Given the description of an element on the screen output the (x, y) to click on. 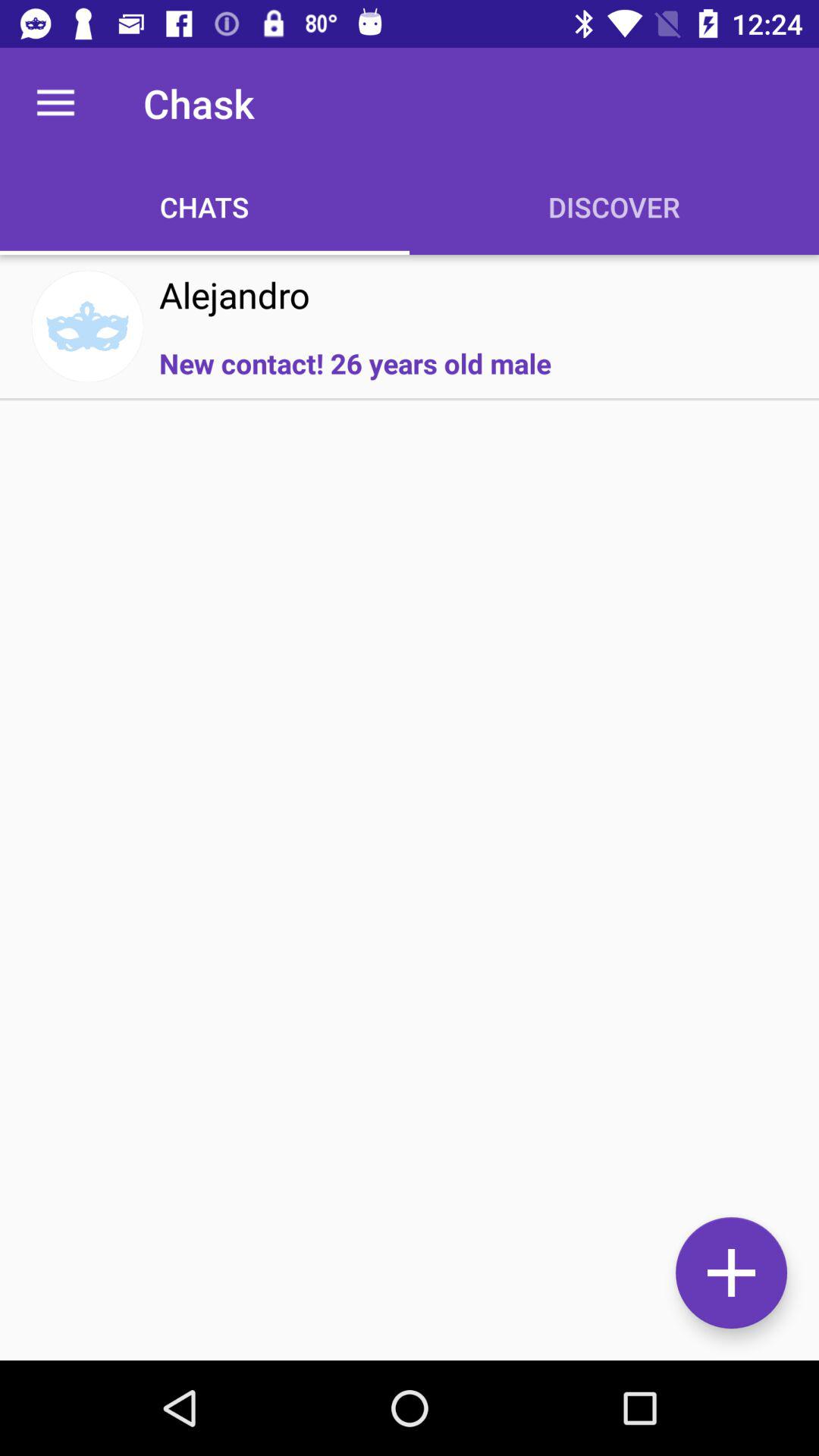
open the new contact 26 icon (355, 363)
